Given the description of an element on the screen output the (x, y) to click on. 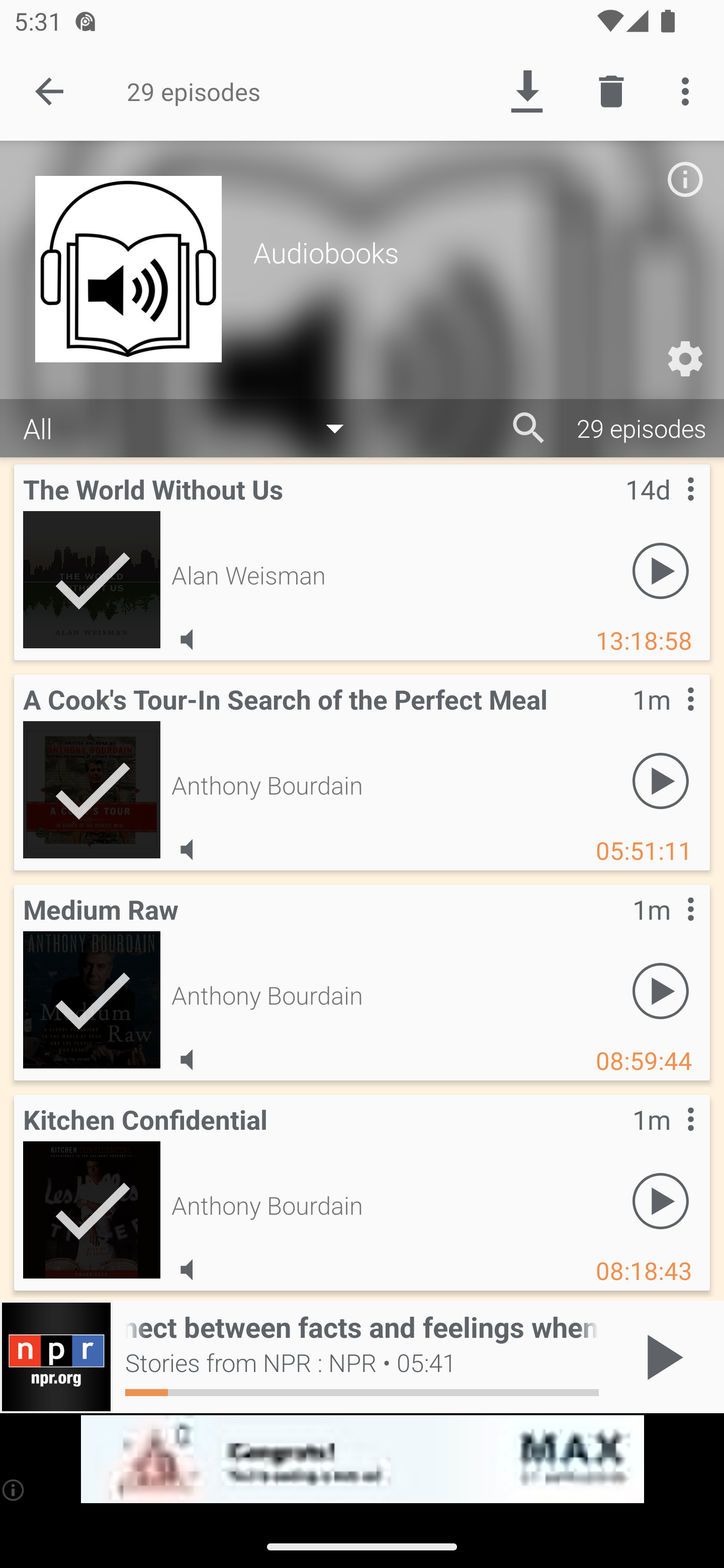
Done (49, 90)
Download (526, 90)
Delete episode (611, 90)
More options (688, 90)
Podcast description (685, 179)
Custom Settings (685, 358)
Search (528, 428)
All (192, 428)
Contextual menu (668, 508)
The World Without Us (91, 579)
Play (660, 571)
Contextual menu (668, 718)
A Cook's Tour-In Search of the Perfect Meal (91, 789)
Play (660, 780)
Contextual menu (668, 928)
Medium Raw (91, 999)
Play (660, 990)
Contextual menu (668, 1138)
Kitchen Confidential (91, 1209)
Play (660, 1200)
Play / Pause (660, 1356)
app-monetization (362, 1459)
(i) (14, 1489)
